Given the description of an element on the screen output the (x, y) to click on. 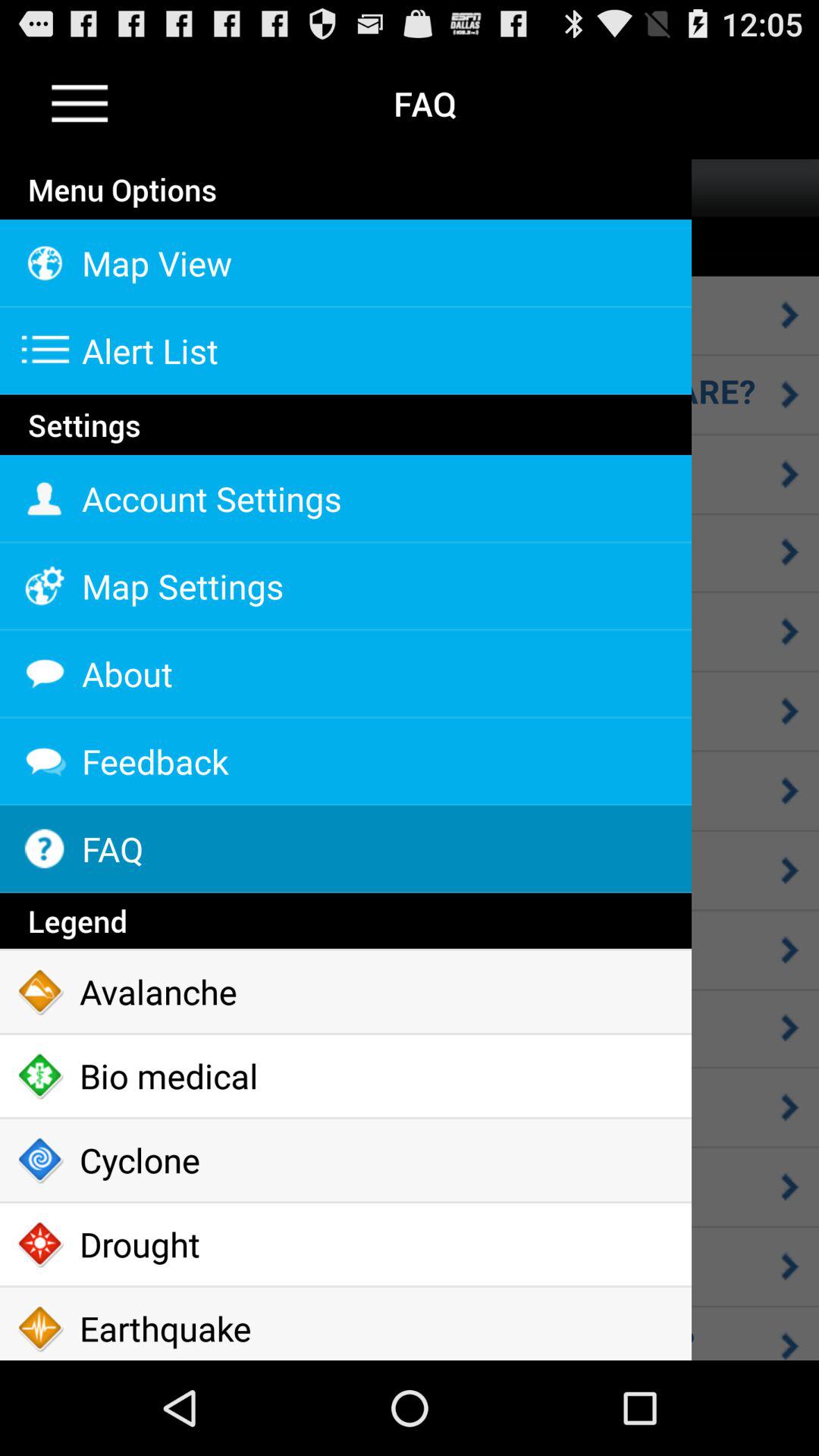
select the app below the cyclone item (345, 1244)
